Given the description of an element on the screen output the (x, y) to click on. 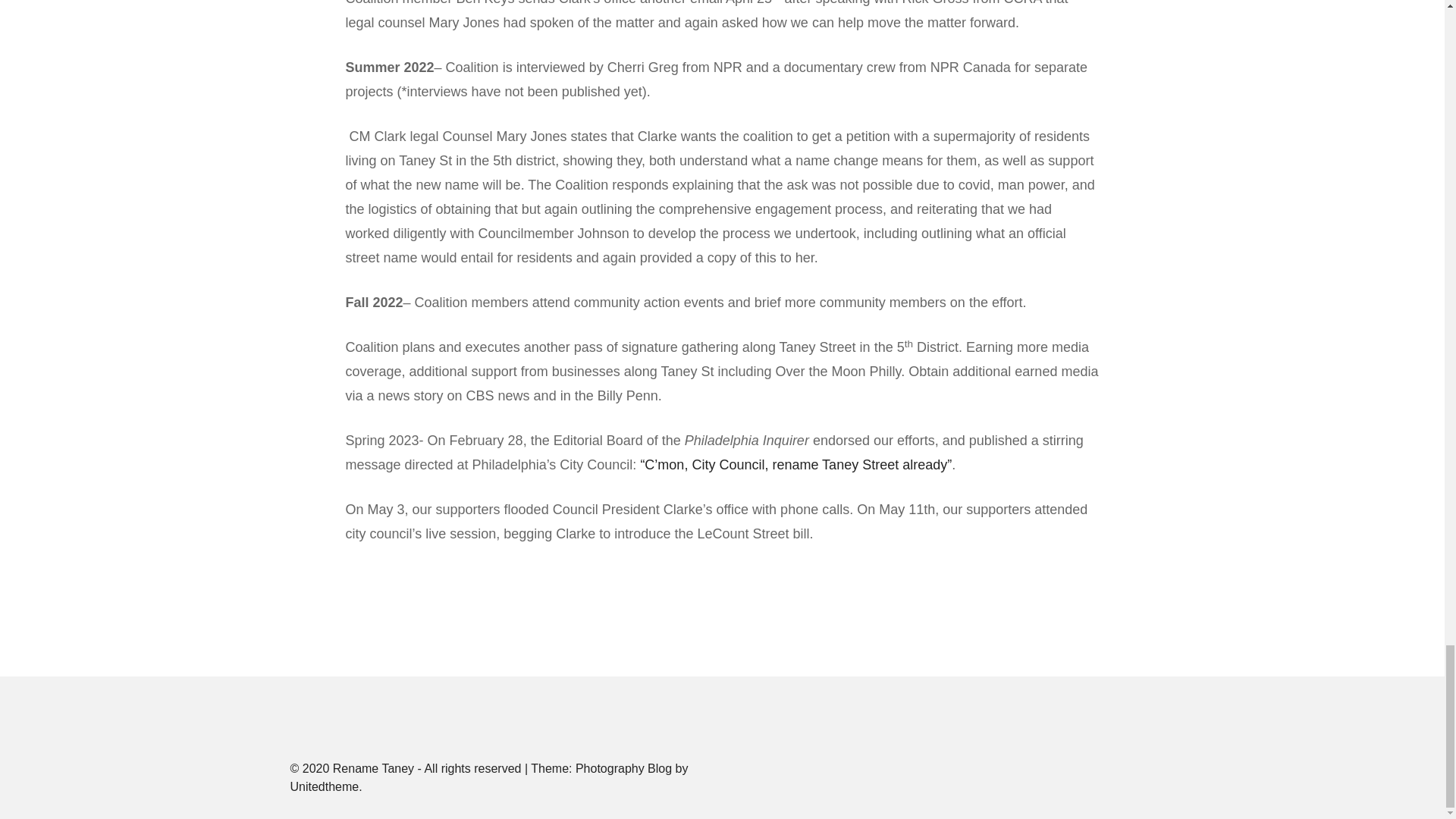
Unitedtheme (323, 786)
